Given the description of an element on the screen output the (x, y) to click on. 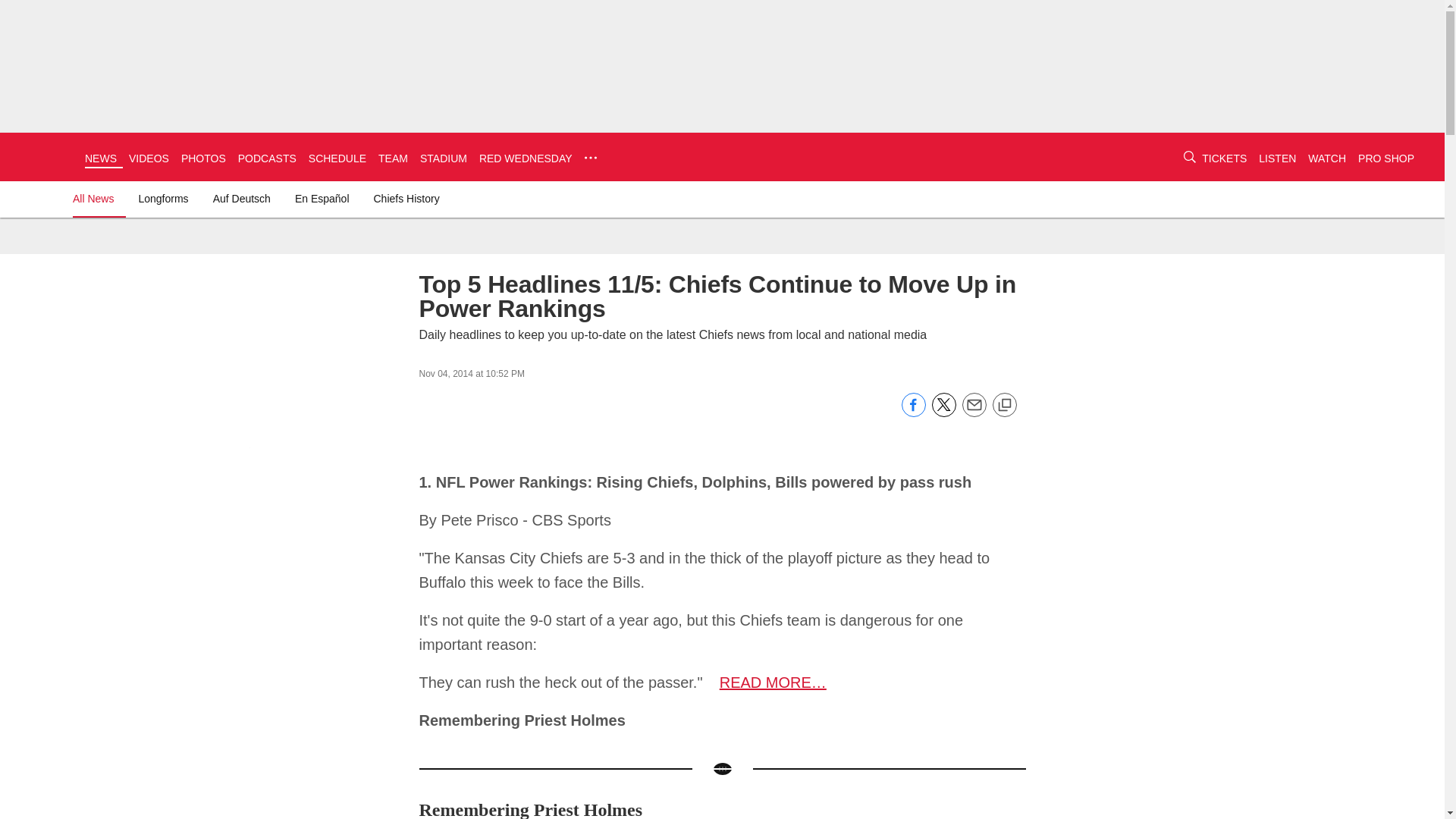
TEAM (392, 158)
STADIUM (443, 158)
VIDEOS (148, 158)
NEWS (100, 158)
VIDEOS (148, 158)
RED WEDNESDAY (525, 158)
PHOTOS (202, 158)
PODCASTS (267, 158)
LISTEN (1277, 158)
SCHEDULE (337, 158)
